Given the description of an element on the screen output the (x, y) to click on. 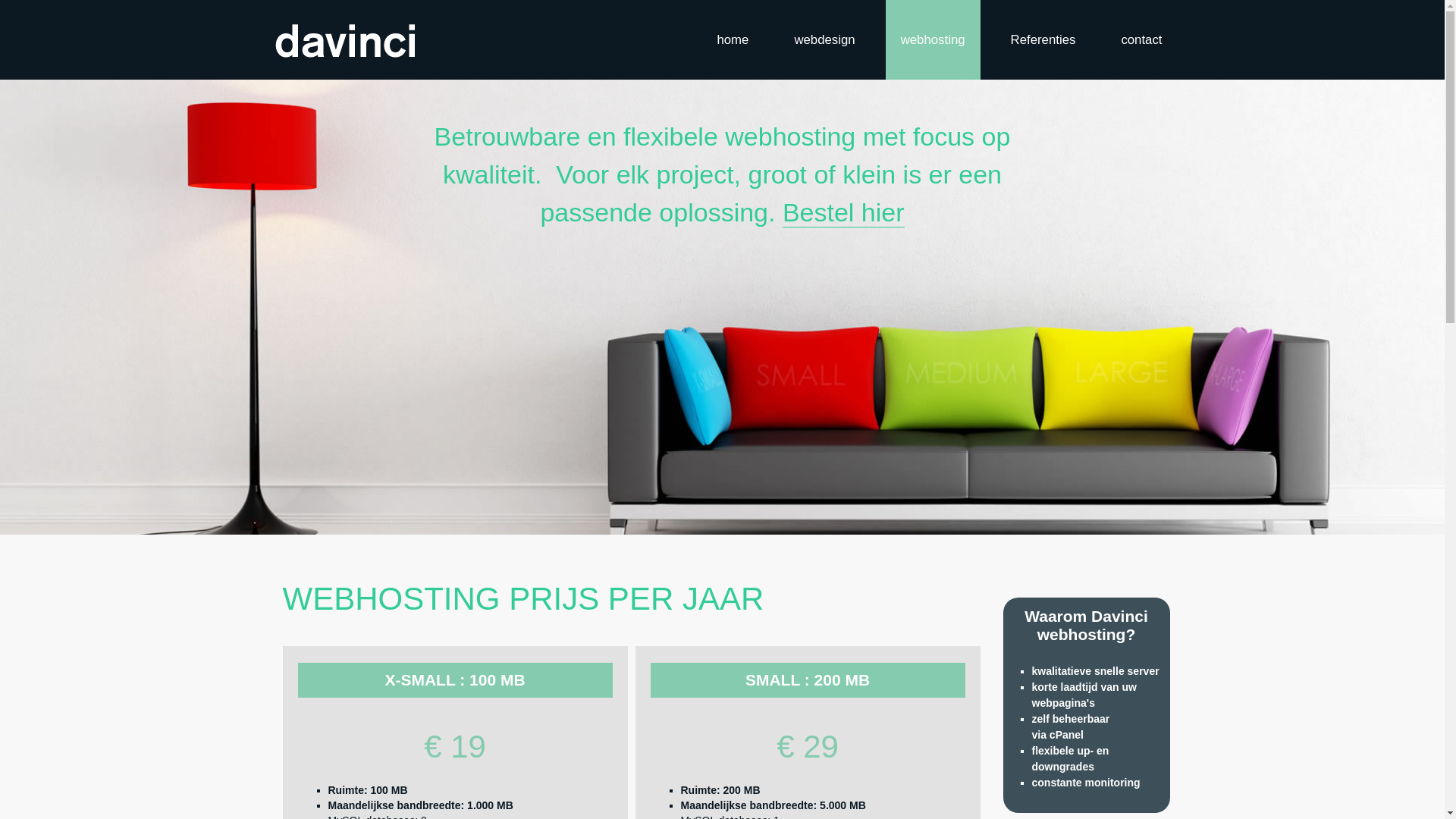
webhosting Element type: text (932, 39)
contact Element type: text (1140, 39)
Referenties Element type: text (1043, 39)
webdesign Element type: text (823, 39)
Bestel hier Element type: text (843, 212)
Home Element type: hover (344, 39)
home Element type: text (732, 39)
